Given the description of an element on the screen output the (x, y) to click on. 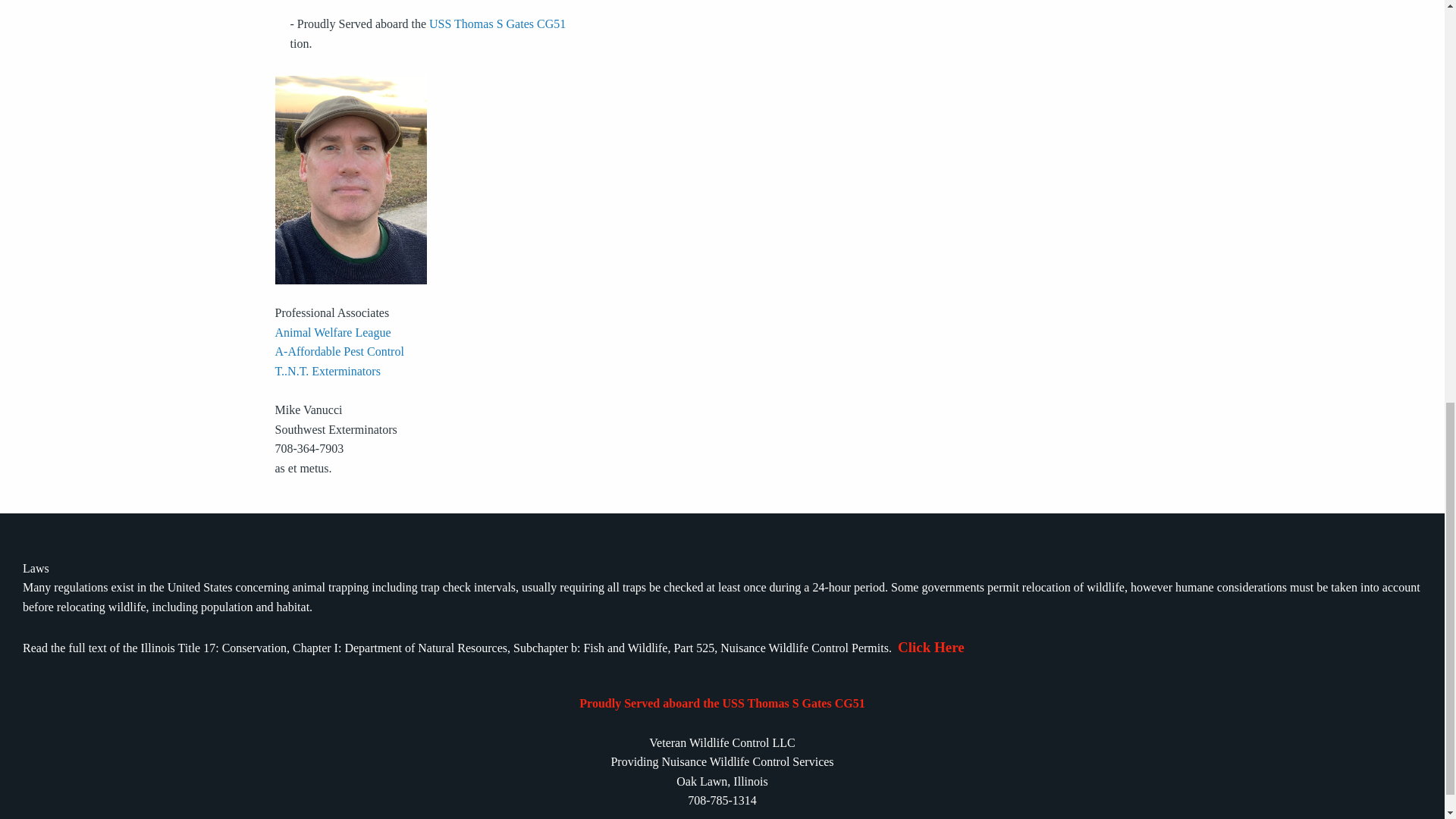
Click Here (930, 647)
A-Affordable Pest Control (339, 350)
USS Thomas S Gates CG51 (497, 23)
T..N.T. Exterminators (327, 370)
Animal Welfare League (332, 332)
Proudly Served aboard the USS Thomas S Gates CG51 (721, 703)
